Given the description of an element on the screen output the (x, y) to click on. 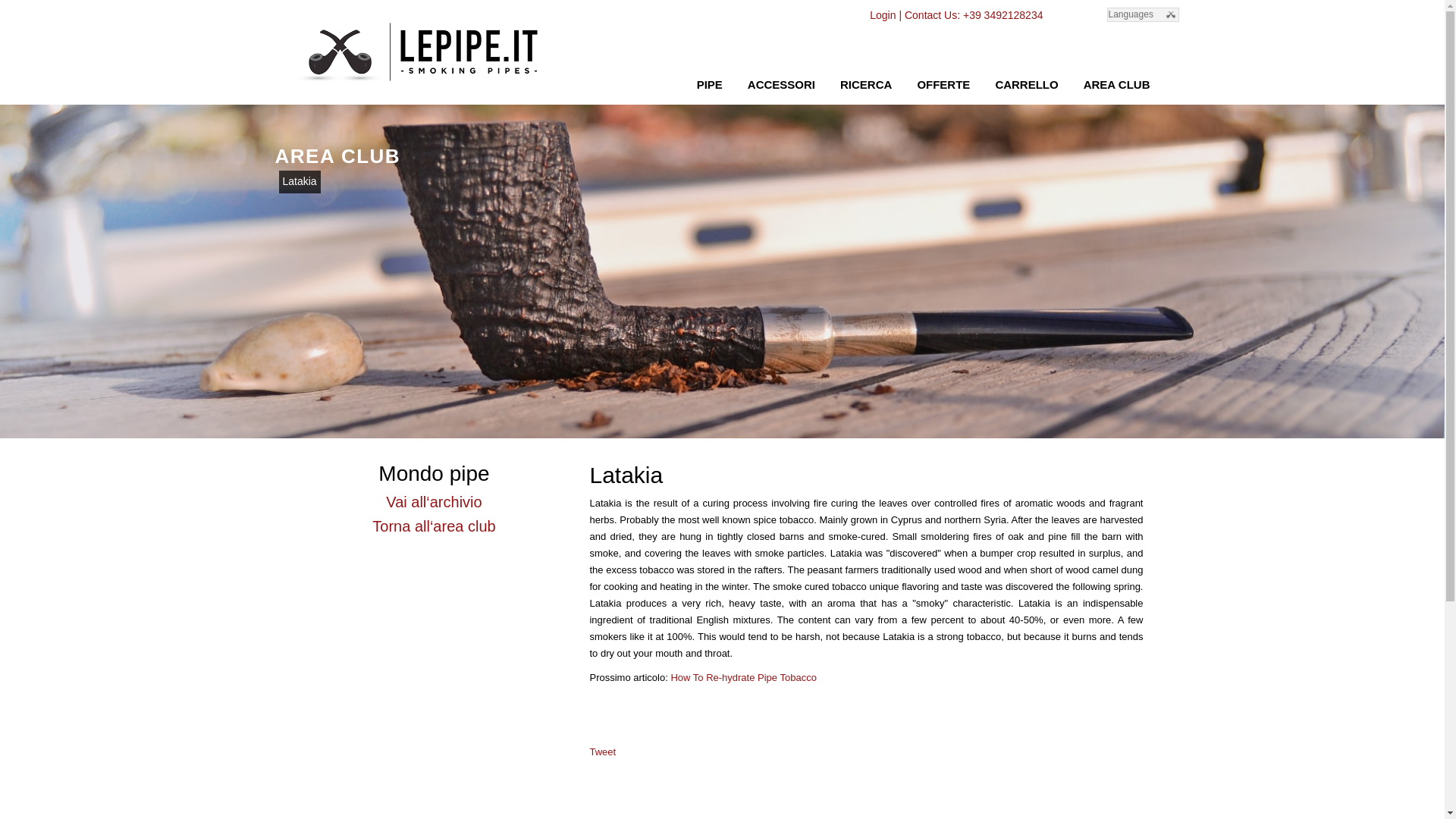
ACCESSORI (781, 83)
CARRELLO (1026, 83)
OFFERTE (943, 83)
How To Re-hydrate Pipe Tobacco (742, 677)
Login (882, 15)
AREA CLUB (1116, 83)
Login (882, 15)
Tweet (602, 751)
RICERCA (865, 83)
PIPE (709, 83)
